Given the description of an element on the screen output the (x, y) to click on. 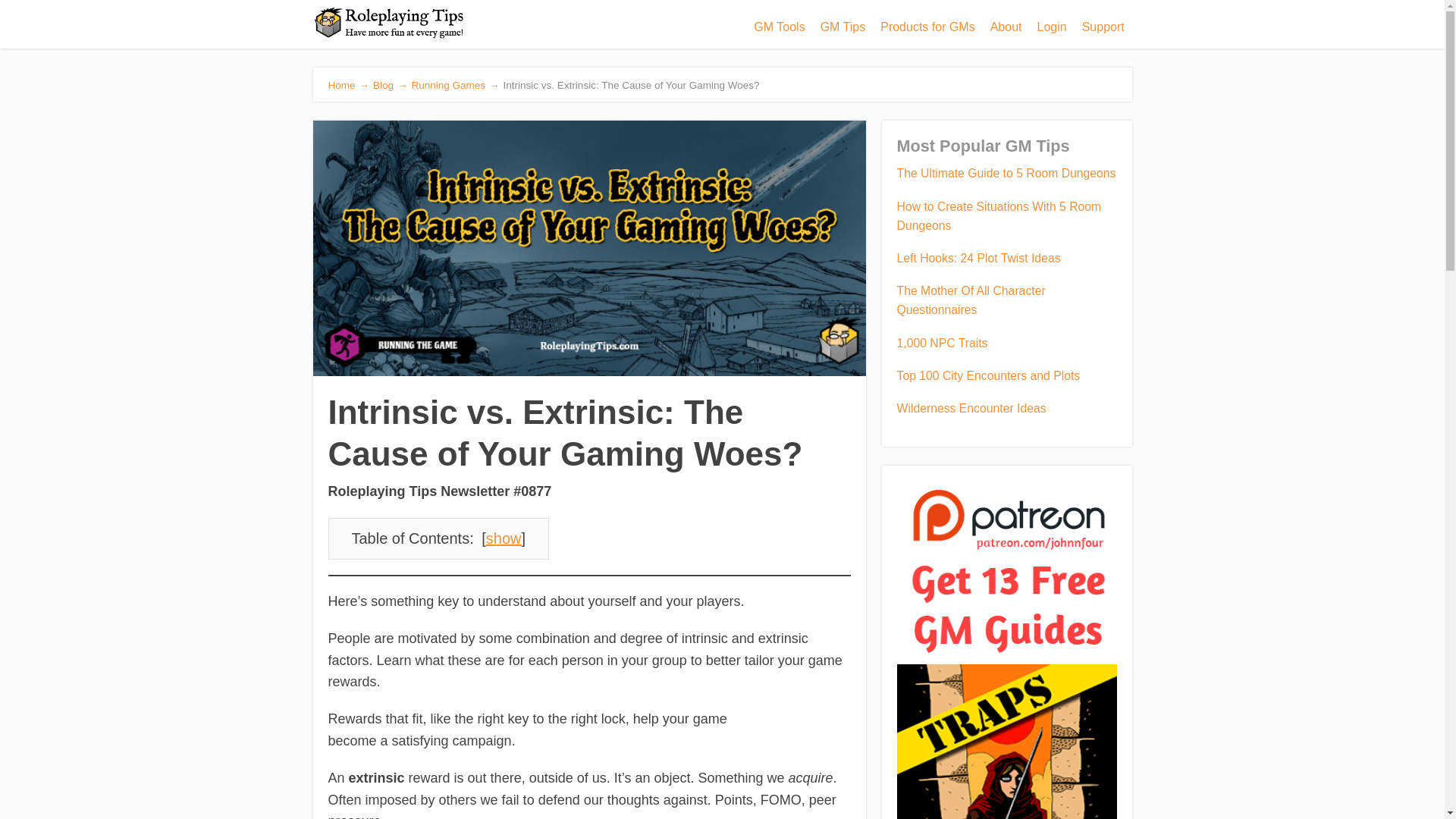
About (1005, 27)
Login (1051, 27)
GM Tools (778, 27)
GM Tips (842, 27)
Support (1103, 27)
Products for GMs (926, 27)
show (503, 538)
